Given the description of an element on the screen output the (x, y) to click on. 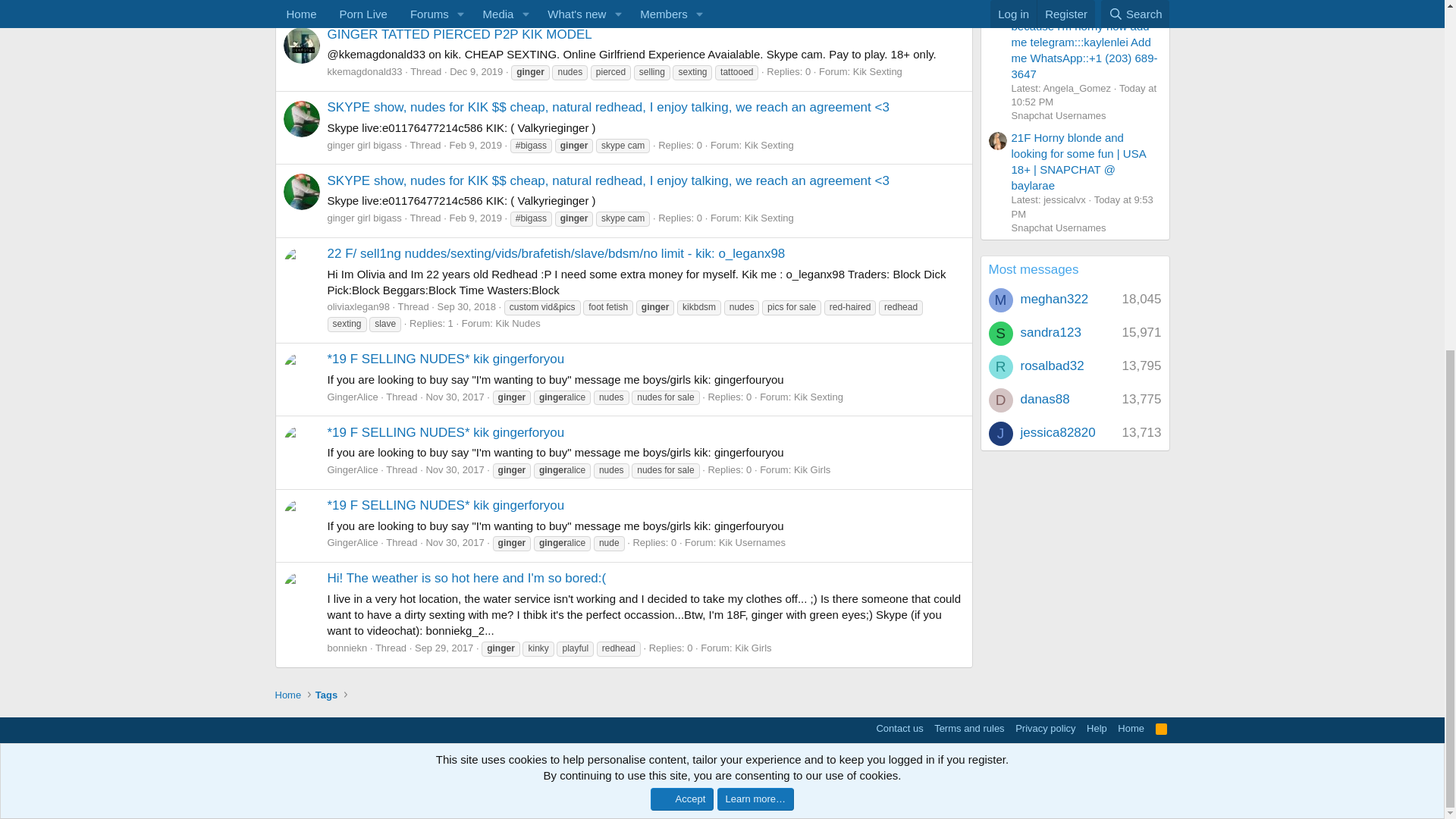
Jul 16, 2024 at 9:53 PM (1082, 206)
Sep 30, 2018 at 10:53 PM (467, 306)
Dec 9, 2019 at 7:03 PM (475, 71)
Jul 16, 2024 at 10:52 PM (1084, 94)
Feb 9, 2019 at 2:31 AM (474, 143)
Sep 29, 2017 at 9:19 PM (443, 647)
Nov 30, 2017 at 3:29 AM (454, 542)
Nov 30, 2017 at 3:31 AM (454, 396)
Feb 9, 2019 at 2:26 AM (474, 217)
Nov 30, 2017 at 3:30 AM (454, 469)
